Given the description of an element on the screen output the (x, y) to click on. 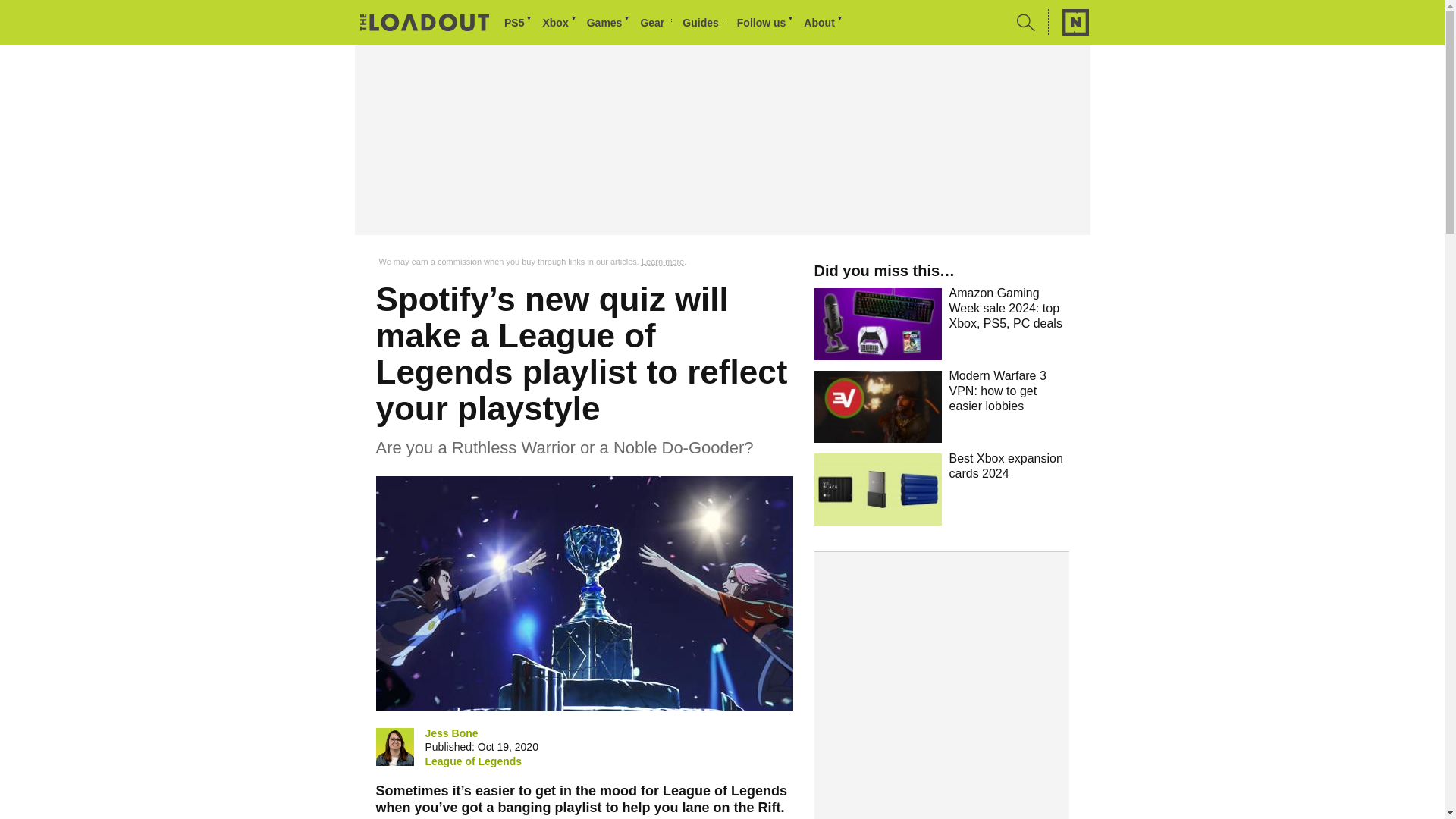
Guides (704, 22)
League of Legends (473, 761)
Follow us (765, 22)
Follow The Loadout (765, 22)
Jess Bone (451, 733)
Learn more (663, 261)
Game Guides (704, 22)
The Loadout (424, 24)
Jess Bone (394, 746)
Network N Media (1068, 22)
Games (608, 22)
